Given the description of an element on the screen output the (x, y) to click on. 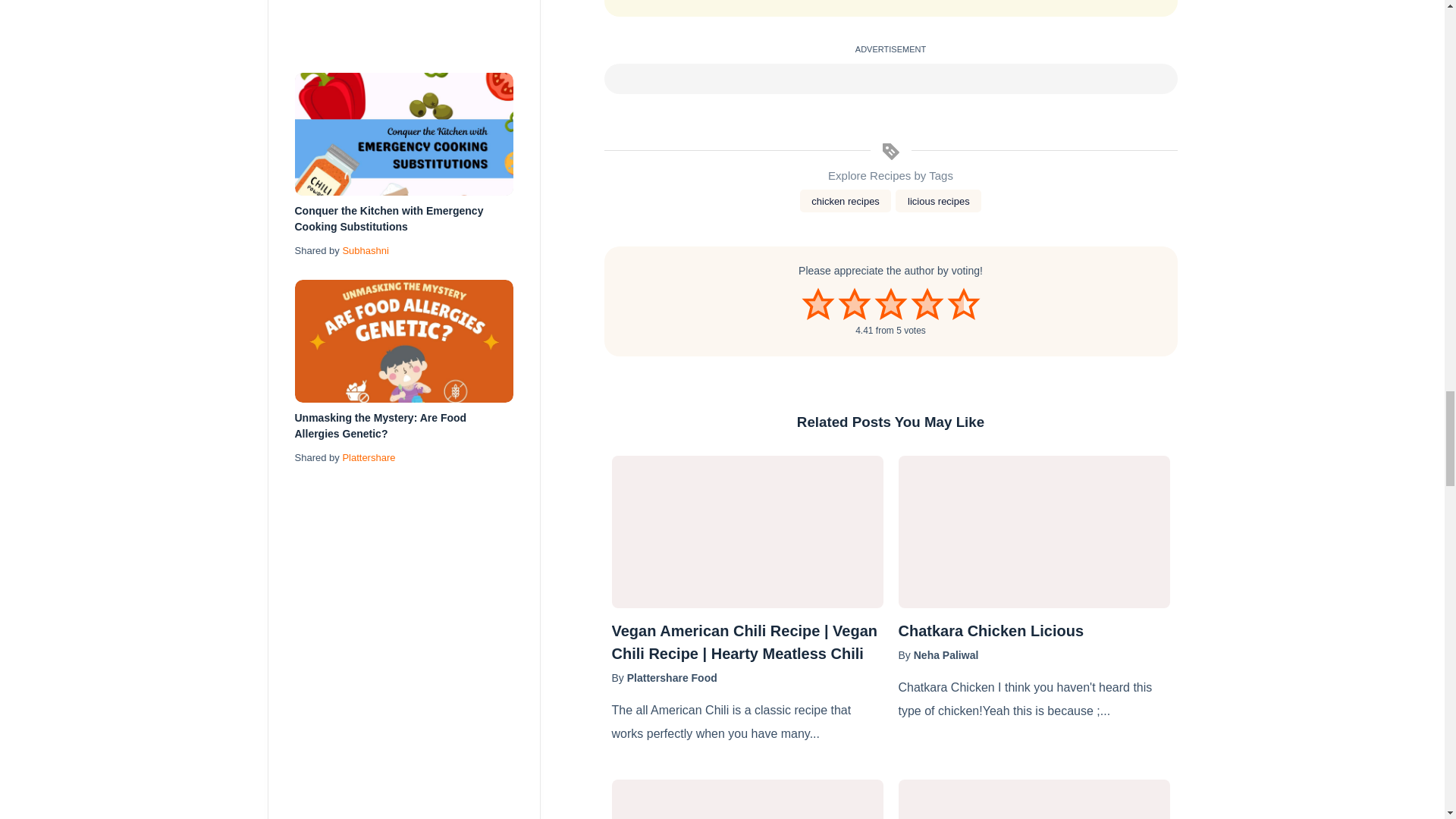
Chili Paneer (746, 799)
Chatkara Chicken Licious (1033, 630)
Chatkara Chicken Licious (1033, 531)
